Given the description of an element on the screen output the (x, y) to click on. 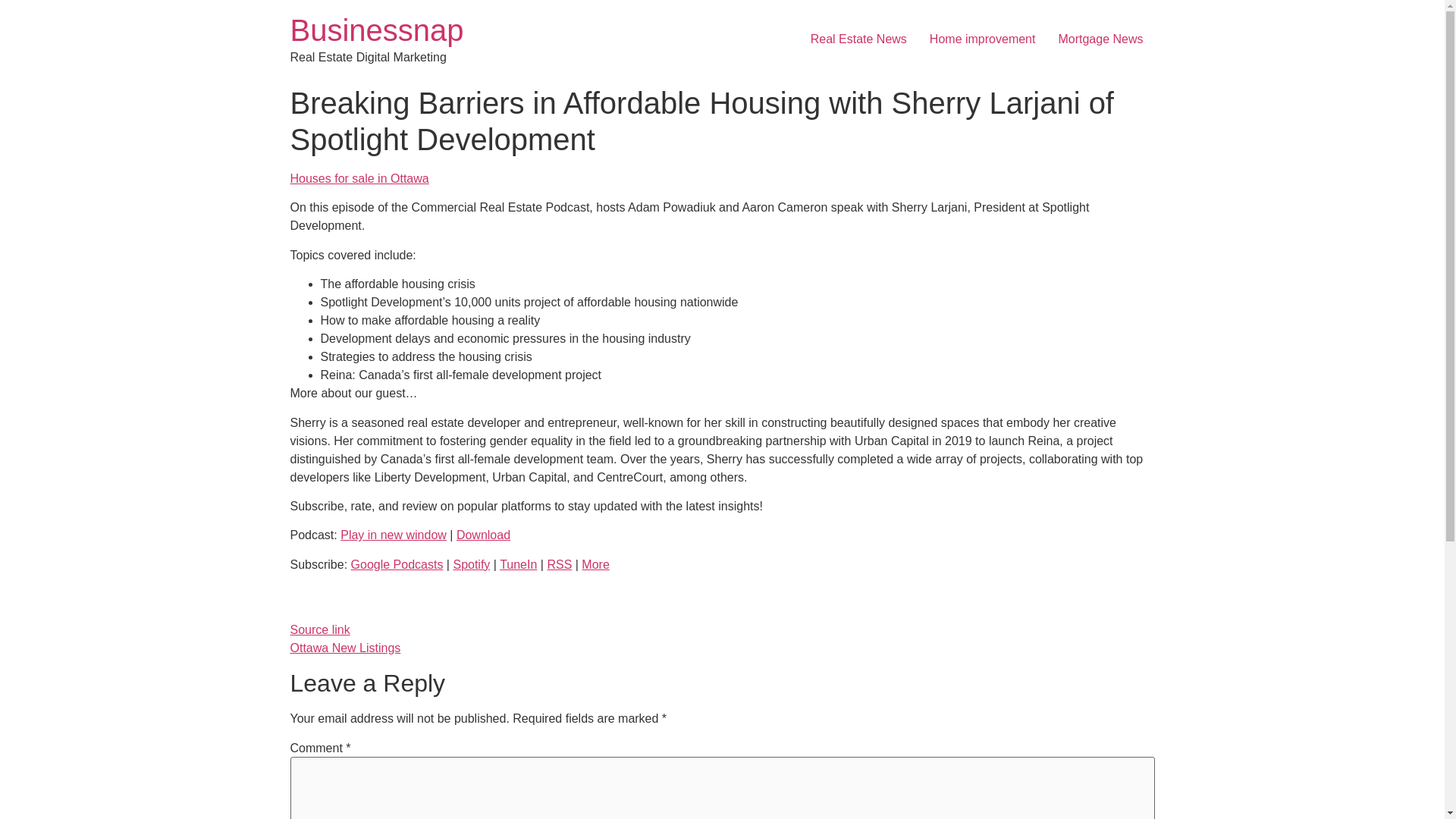
Download (484, 534)
Ottawa New Listings (344, 647)
Houses for sale in Ottawa (358, 178)
Houses for sale in Ottawa (358, 178)
Home improvement (982, 39)
Subscribe via RSS (559, 563)
Subscribe on Google Podcasts (397, 563)
More (594, 563)
Spotify (470, 563)
Home (376, 29)
Play in new window (393, 534)
Mortgage News (1100, 39)
TuneIn (518, 563)
More (594, 563)
Subscribe on Spotify (470, 563)
